Given the description of an element on the screen output the (x, y) to click on. 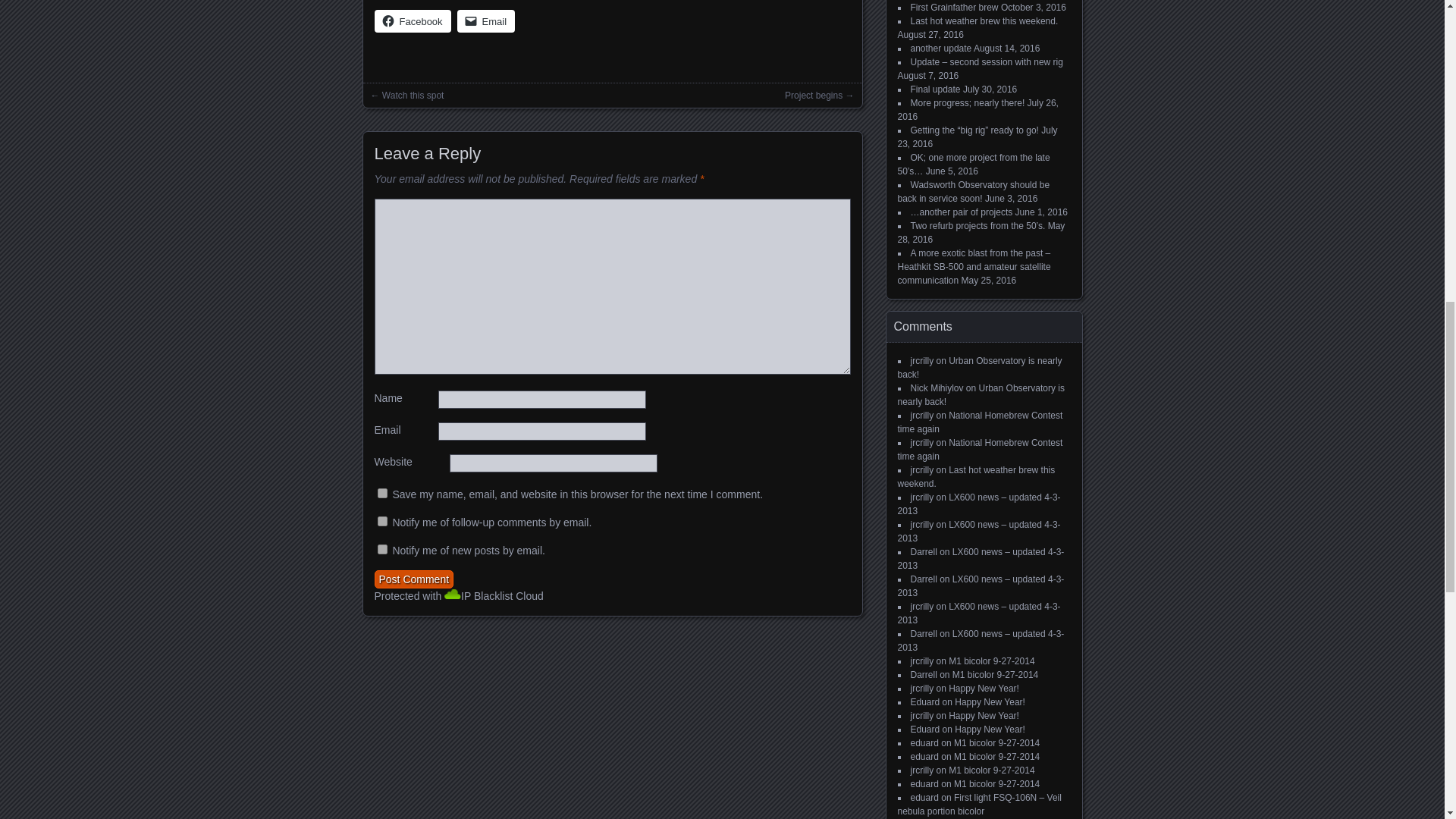
subscribe (382, 521)
Click to share on Facebook (412, 20)
Post Comment (414, 579)
Click to email a link to a friend (486, 20)
Facebook (412, 20)
subscribe (382, 549)
IP Blacklist Cloud (502, 595)
Project begins (813, 95)
IP Blacklist Cloud (502, 595)
Email (486, 20)
